Given the description of an element on the screen output the (x, y) to click on. 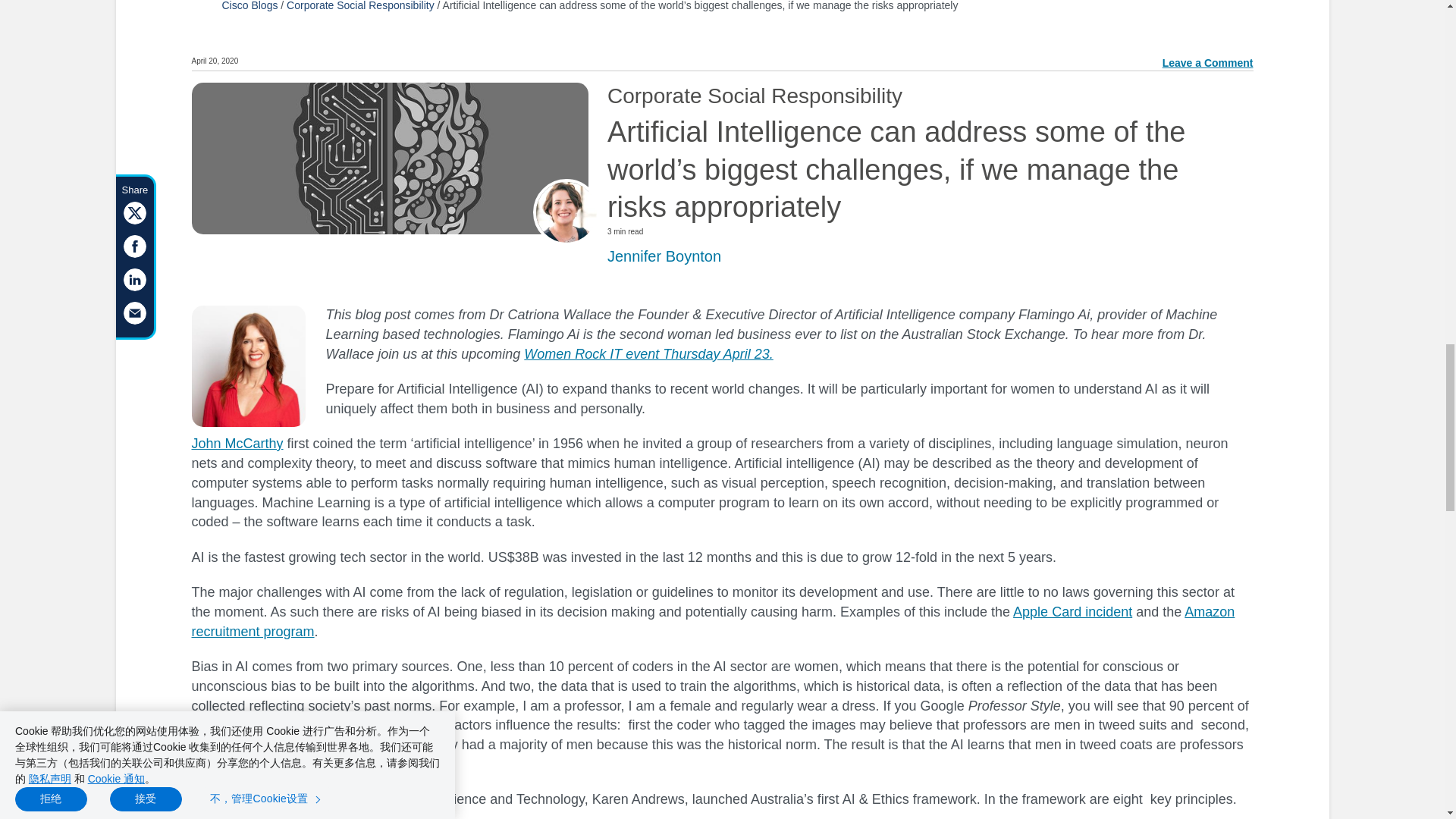
Apple Card incident (1072, 611)
John McCarthy (236, 443)
Corporate Social Responsibility (359, 5)
Women Rock IT event Thursday April 23. (648, 353)
Cisco Blogs (249, 5)
Posts by Jennifer Boynton (663, 256)
Jennifer Boynton (663, 256)
